Given the description of an element on the screen output the (x, y) to click on. 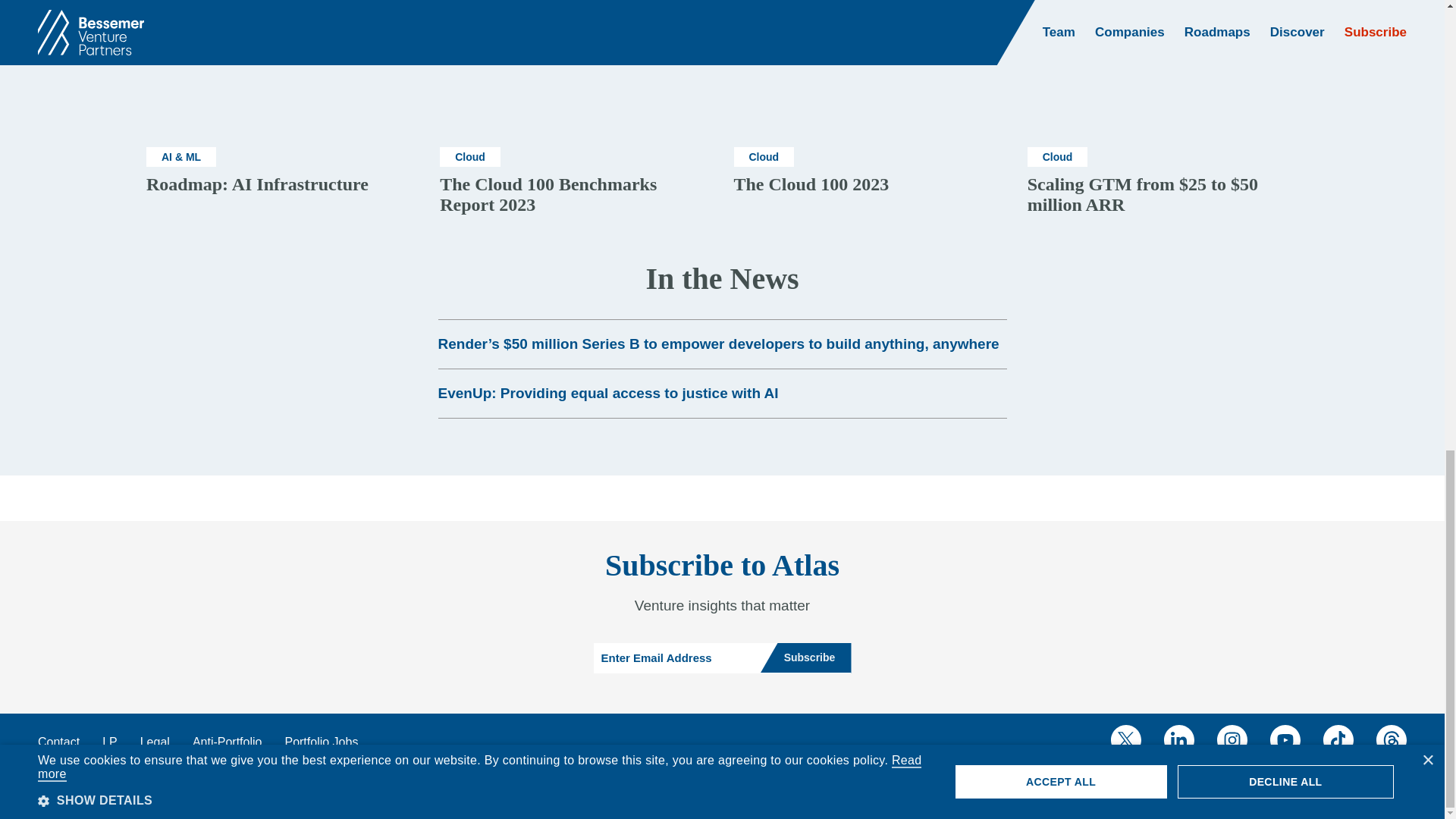
Subscribe (805, 657)
